Given the description of an element on the screen output the (x, y) to click on. 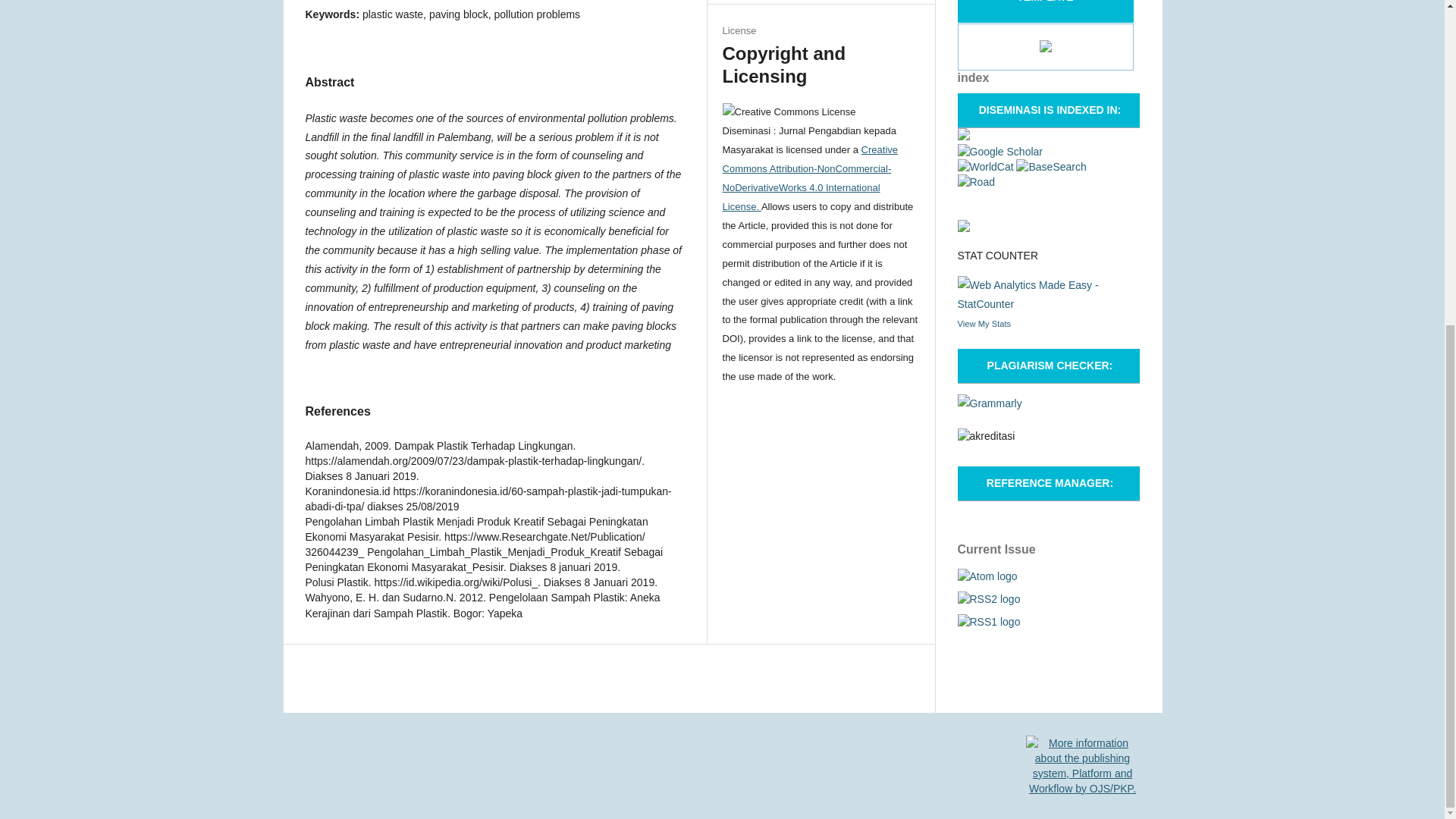
Template Diseminasi (1045, 48)
Dimension (962, 136)
Web Analytics Made Easy - StatCounter (1047, 304)
